Given the description of an element on the screen output the (x, y) to click on. 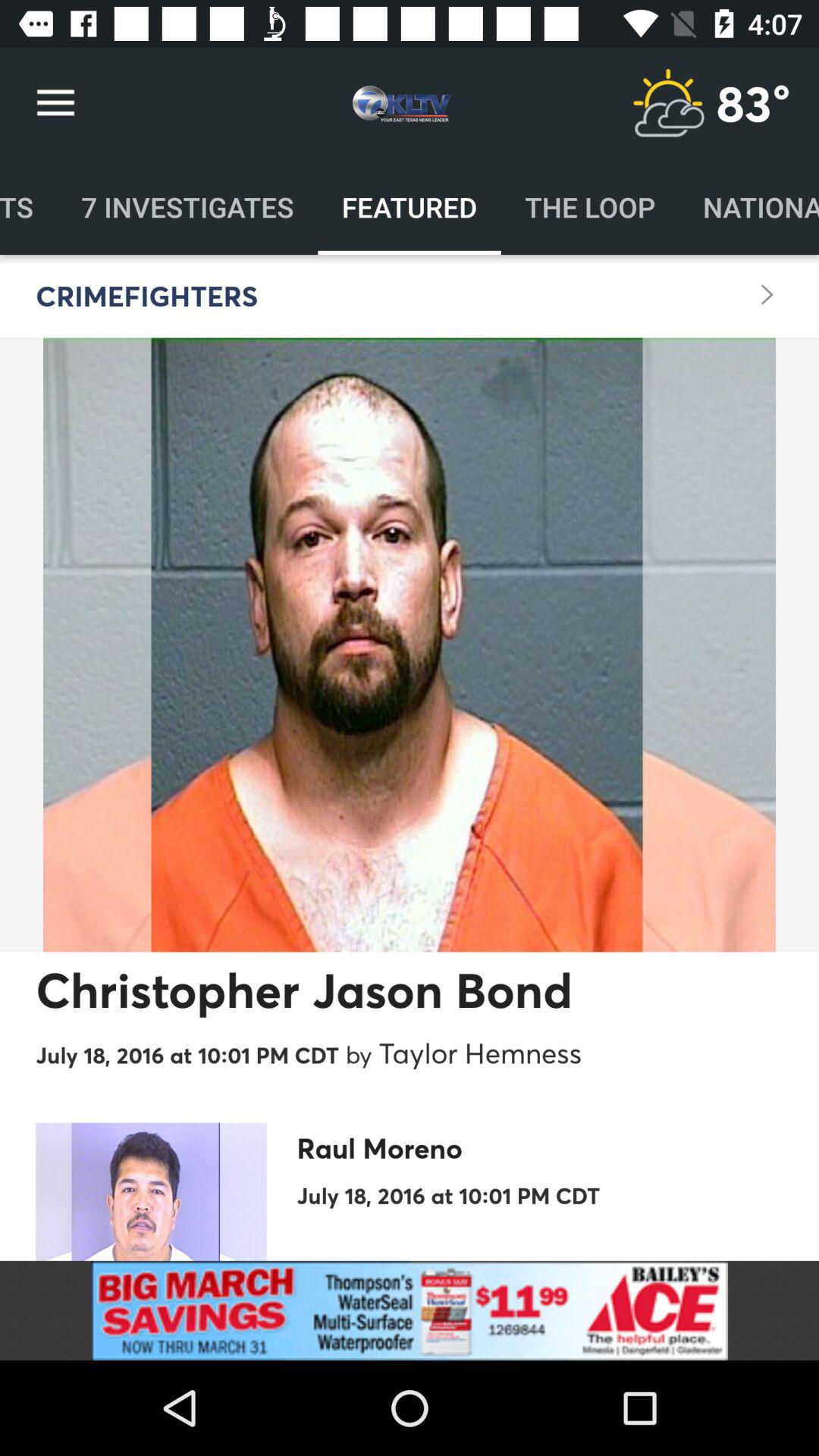
select the climate symbol which is at the right corner of the screen (668, 102)
click on 83 degrees (753, 103)
